Given the description of an element on the screen output the (x, y) to click on. 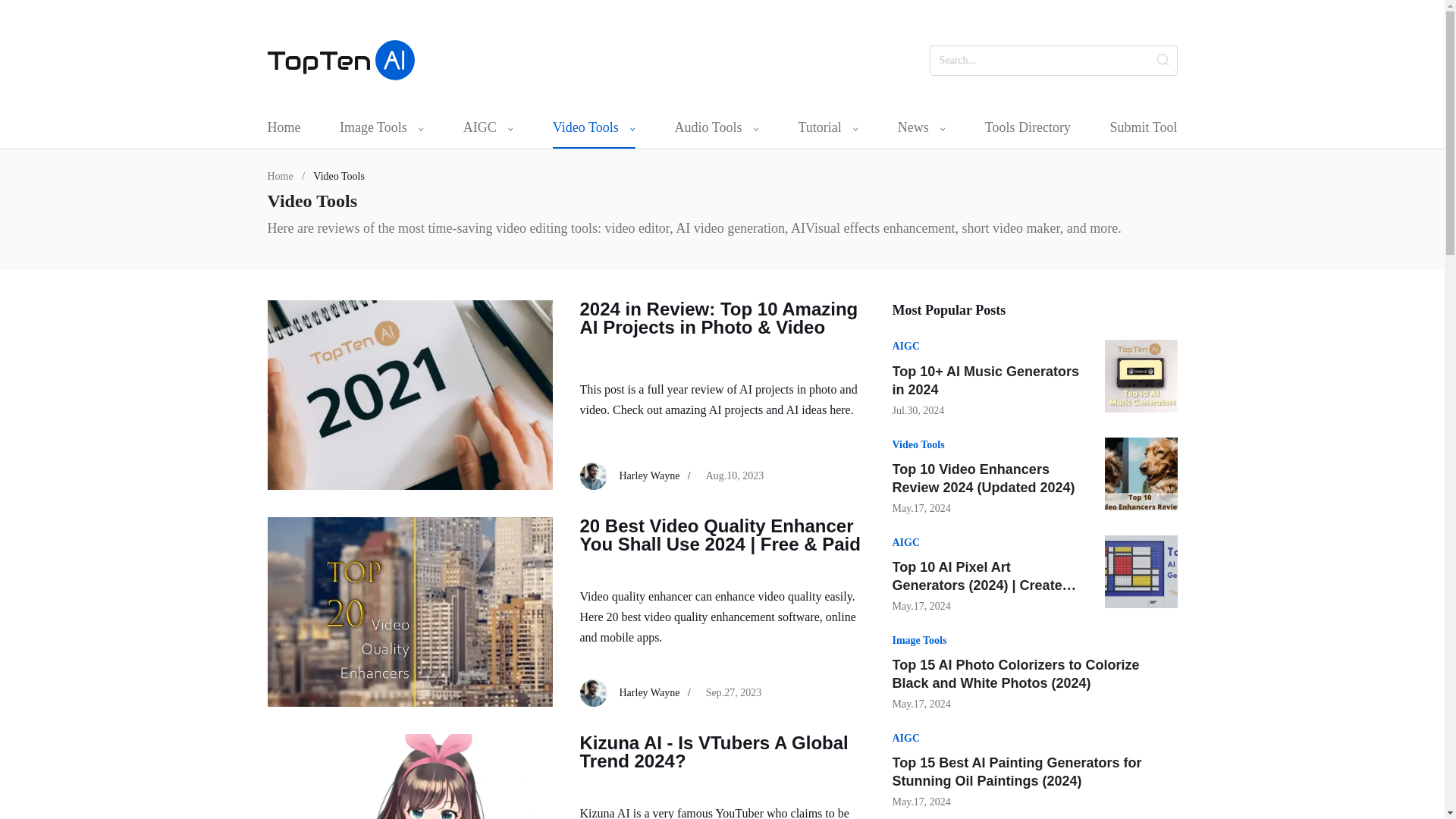
Video Tools (593, 127)
Home (282, 127)
Kizuna AI - Is VTubers A Global Trend 2024? (721, 751)
Home (279, 175)
Tutorial (828, 127)
Submit Tool (1142, 127)
Image Tools (381, 127)
Audio Tools (716, 127)
AIGC (488, 127)
Video Tools (917, 444)
AIGC (905, 346)
Tools Directory (1027, 127)
News (922, 127)
AIGC (905, 542)
